Given the description of an element on the screen output the (x, y) to click on. 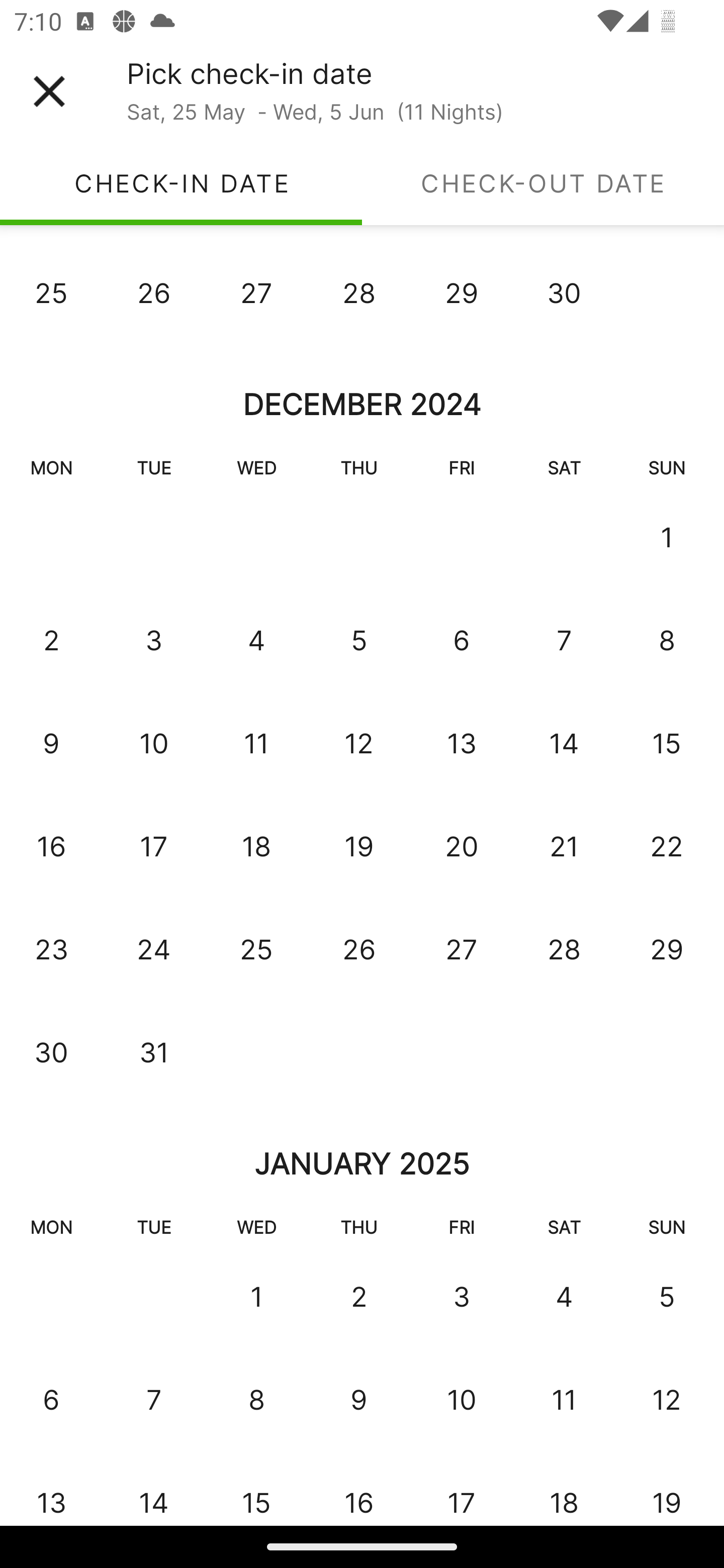
Check-out Date CHECK-OUT DATE (543, 183)
